Given the description of an element on the screen output the (x, y) to click on. 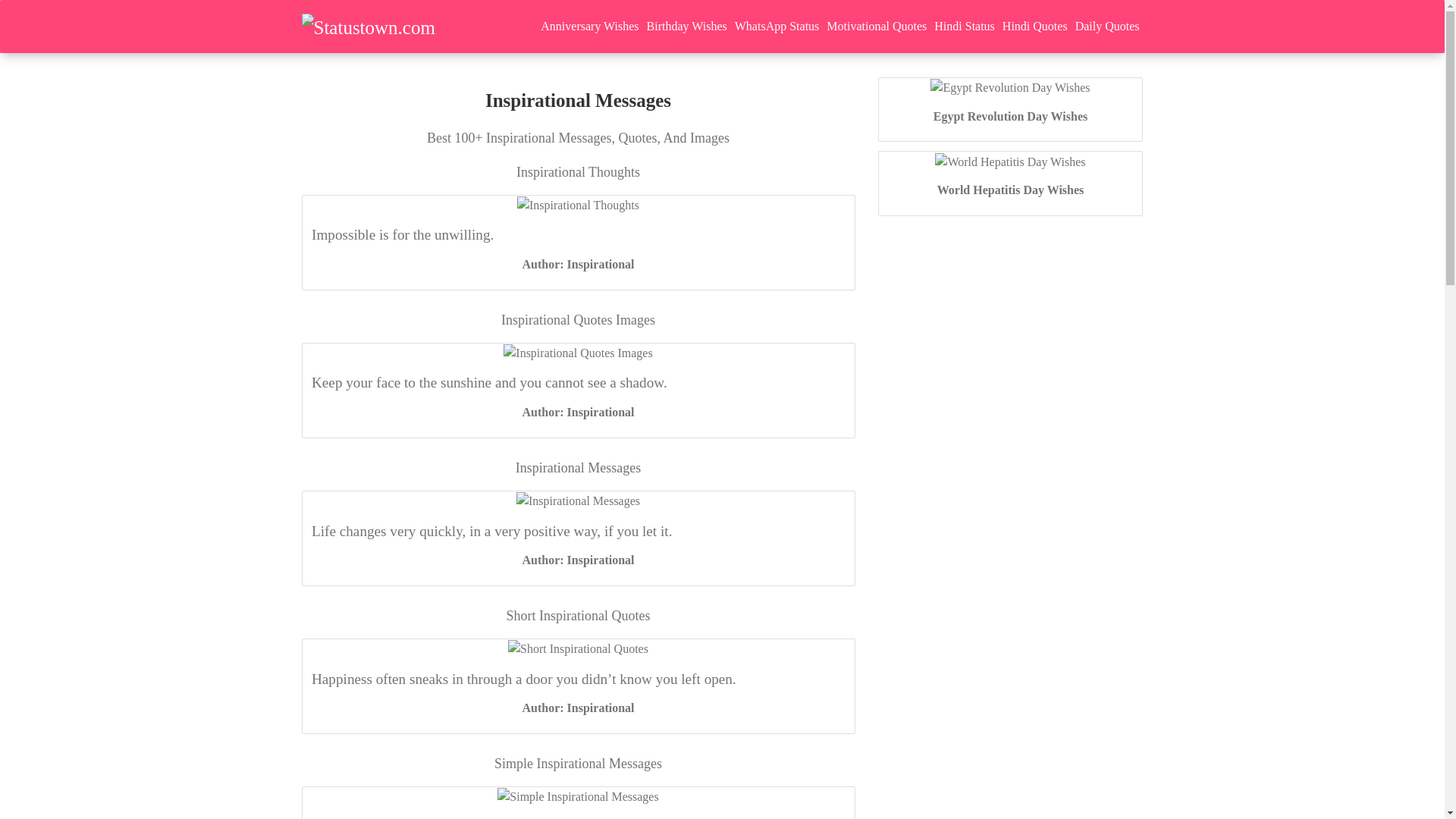
Make each day your masterpiece. - Inspirational quotes (577, 795)
World Hepatitis Day Wishes (1010, 189)
Anniversary Wishes (589, 26)
Egypt Revolution Day Wishes (1009, 86)
Daily Quotes (1106, 26)
WhatsApp Status (777, 26)
Hindi Status (964, 26)
Egypt Revolution Day Wishes (1010, 115)
Hindi Quotes (1034, 26)
